Given the description of an element on the screen output the (x, y) to click on. 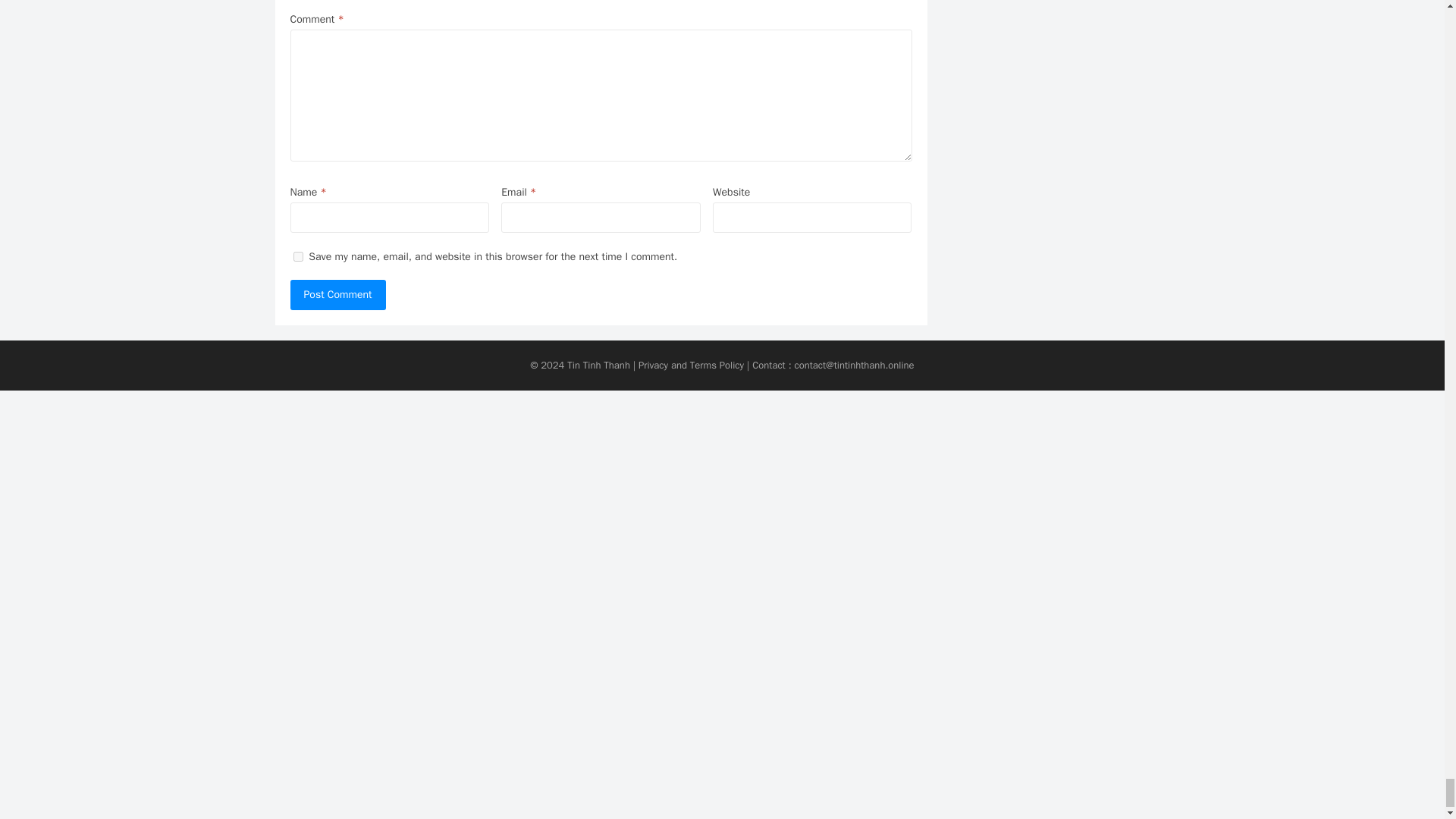
yes (297, 256)
Post Comment (337, 295)
